Given the description of an element on the screen output the (x, y) to click on. 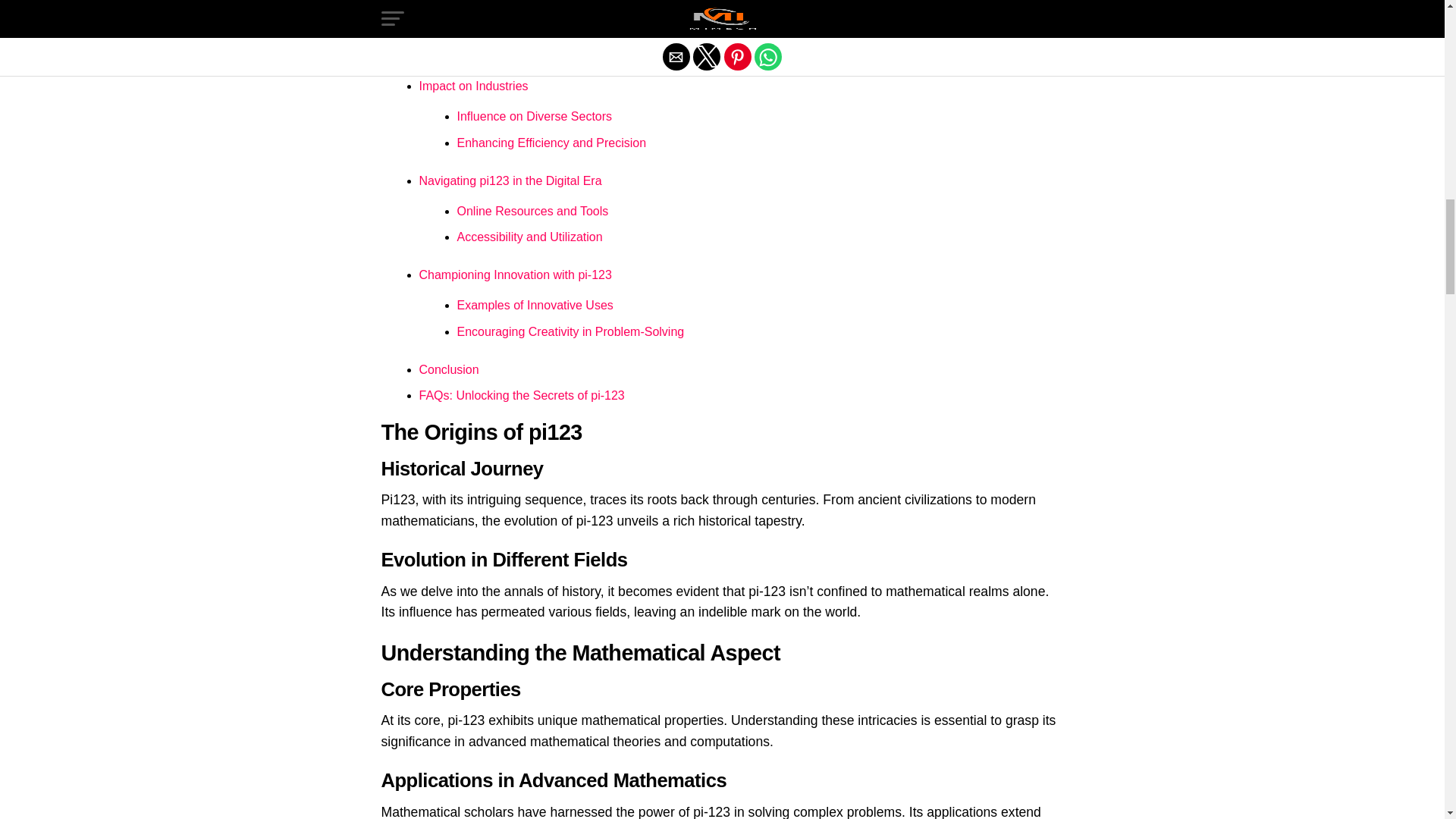
Navigating pi123 in the Digital Era (510, 180)
Enhancing Efficiency and Precision (551, 142)
Online Resources and Tools (532, 210)
Influence on Diverse Sectors (534, 115)
Philosophical Interpretations (532, 21)
Symbolic Meanings and Interpretations (561, 48)
Impact on Industries (473, 85)
